Given the description of an element on the screen output the (x, y) to click on. 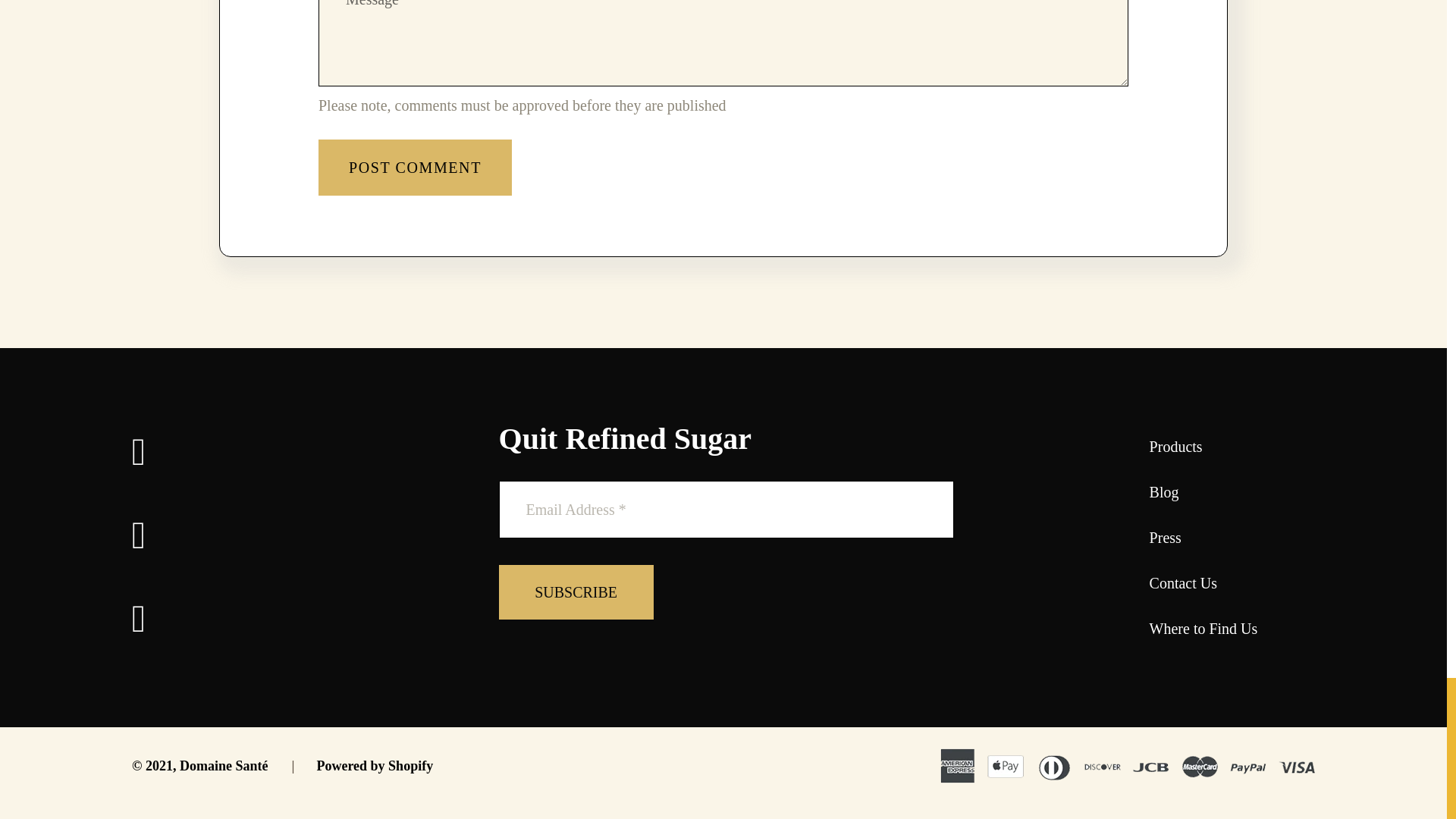
Post comment (415, 167)
SUBSCRIBE (576, 592)
